Given the description of an element on the screen output the (x, y) to click on. 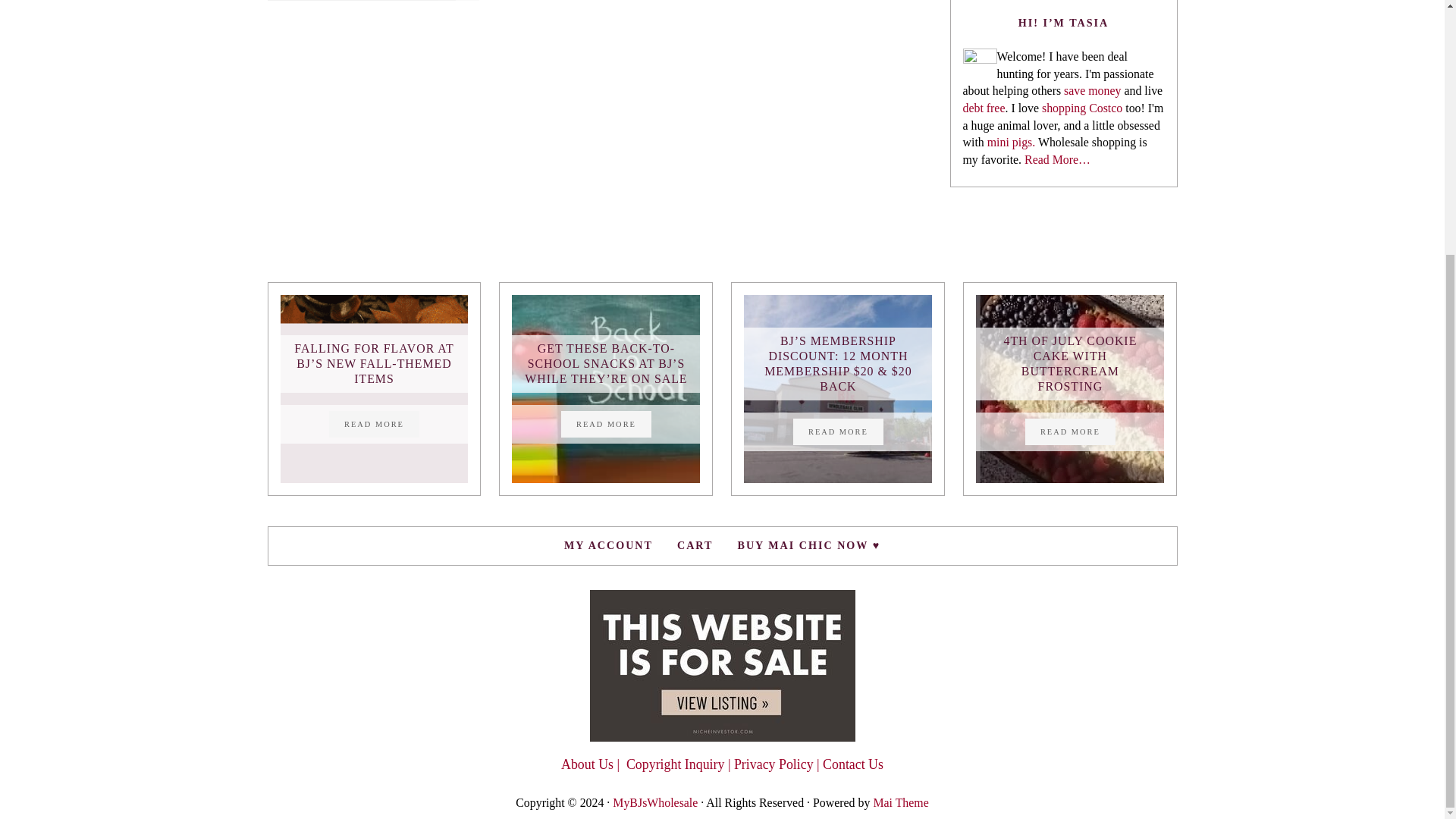
SUBMIT SEARCH (459, 0)
shopping Costco (1080, 107)
save money (1092, 90)
debt free (984, 107)
mini pigs. (1011, 141)
